Given the description of an element on the screen output the (x, y) to click on. 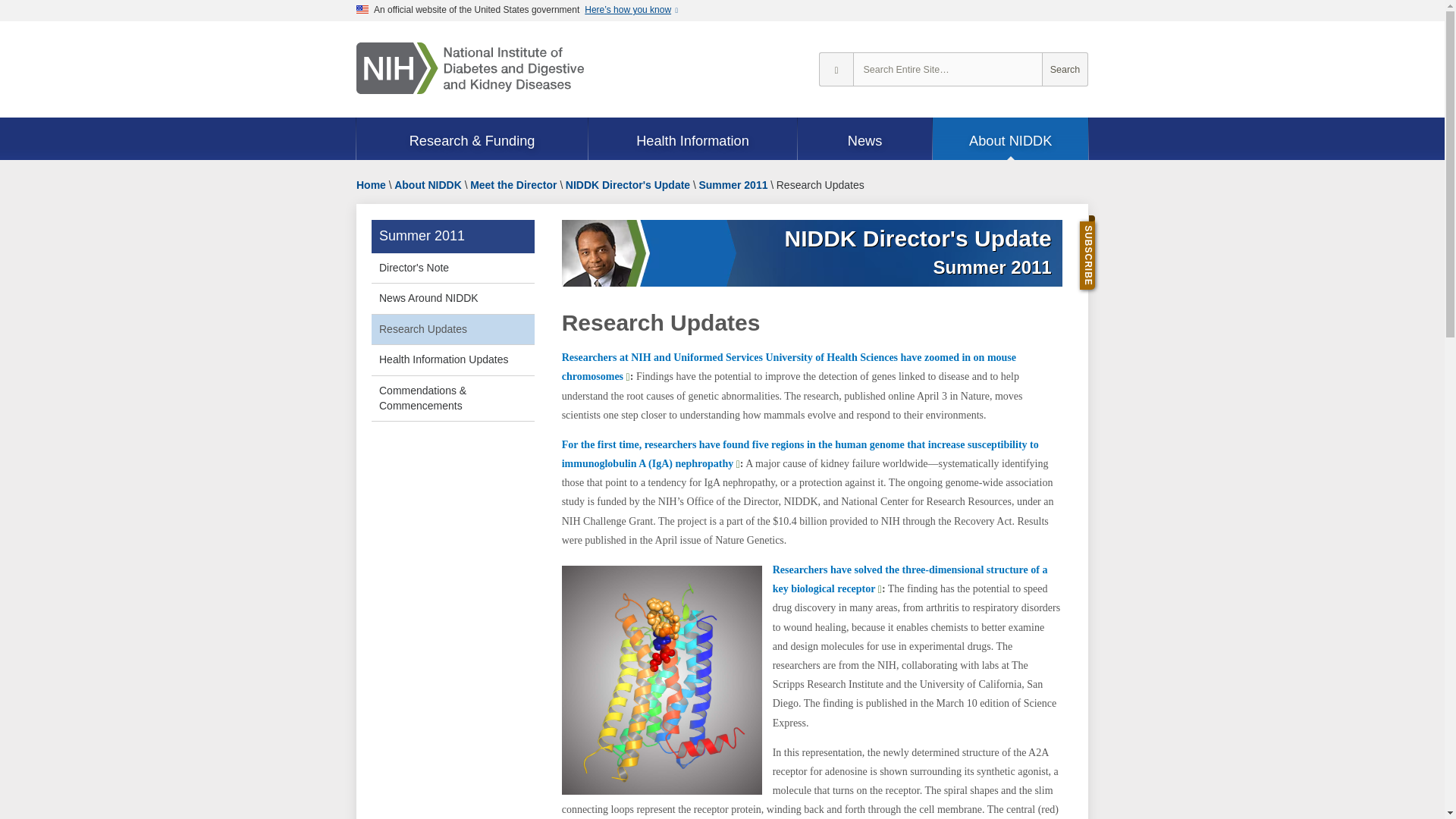
Health Information (692, 139)
News (865, 139)
Show options for subscribing to this page (1114, 228)
Search Entire Site (1064, 69)
Change search scope (835, 69)
Search (1064, 69)
